Given the description of an element on the screen output the (x, y) to click on. 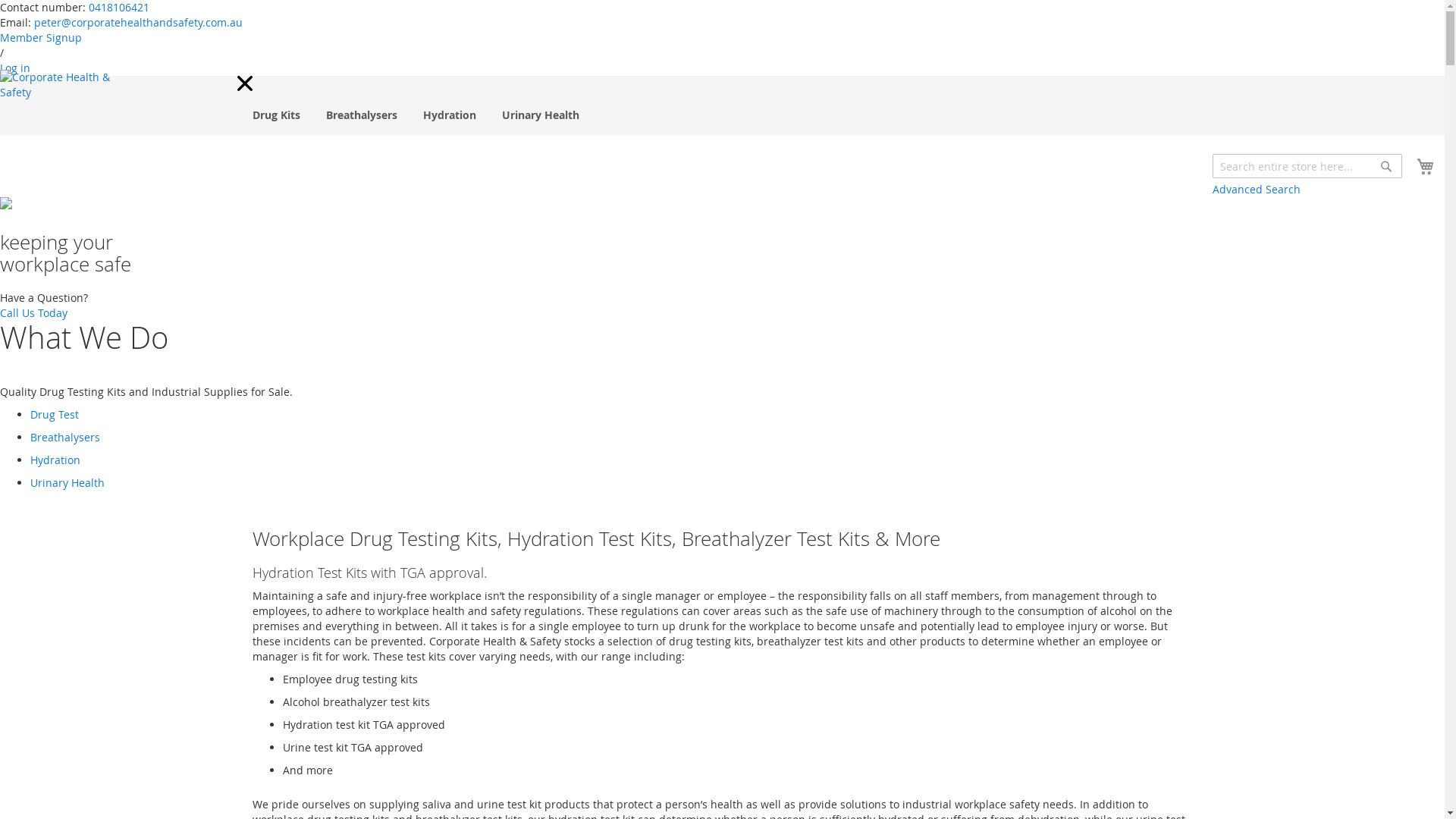
Call Us Today Element type: text (33, 312)
Drug Kits Element type: text (275, 114)
My Cart
  Element type: text (1428, 165)
 Corporate Health & Safety Element type: hover (71, 93)
Log in Element type: text (15, 67)
Advanced Search Element type: text (1256, 189)
Breathalysers Element type: text (361, 114)
peter@corporatehealthandsafety.com.au Element type: text (138, 22)
Breathalysers Element type: text (65, 436)
Hydration Element type: text (55, 459)
Search Element type: text (1385, 165)
0418106421 Element type: text (118, 7)
Urinary Health Element type: text (540, 114)
Urinary Health Element type: text (67, 482)
Member Signup Element type: text (40, 37)
Hydration Element type: text (449, 114)
Drug Test Element type: text (54, 414)
